Given the description of an element on the screen output the (x, y) to click on. 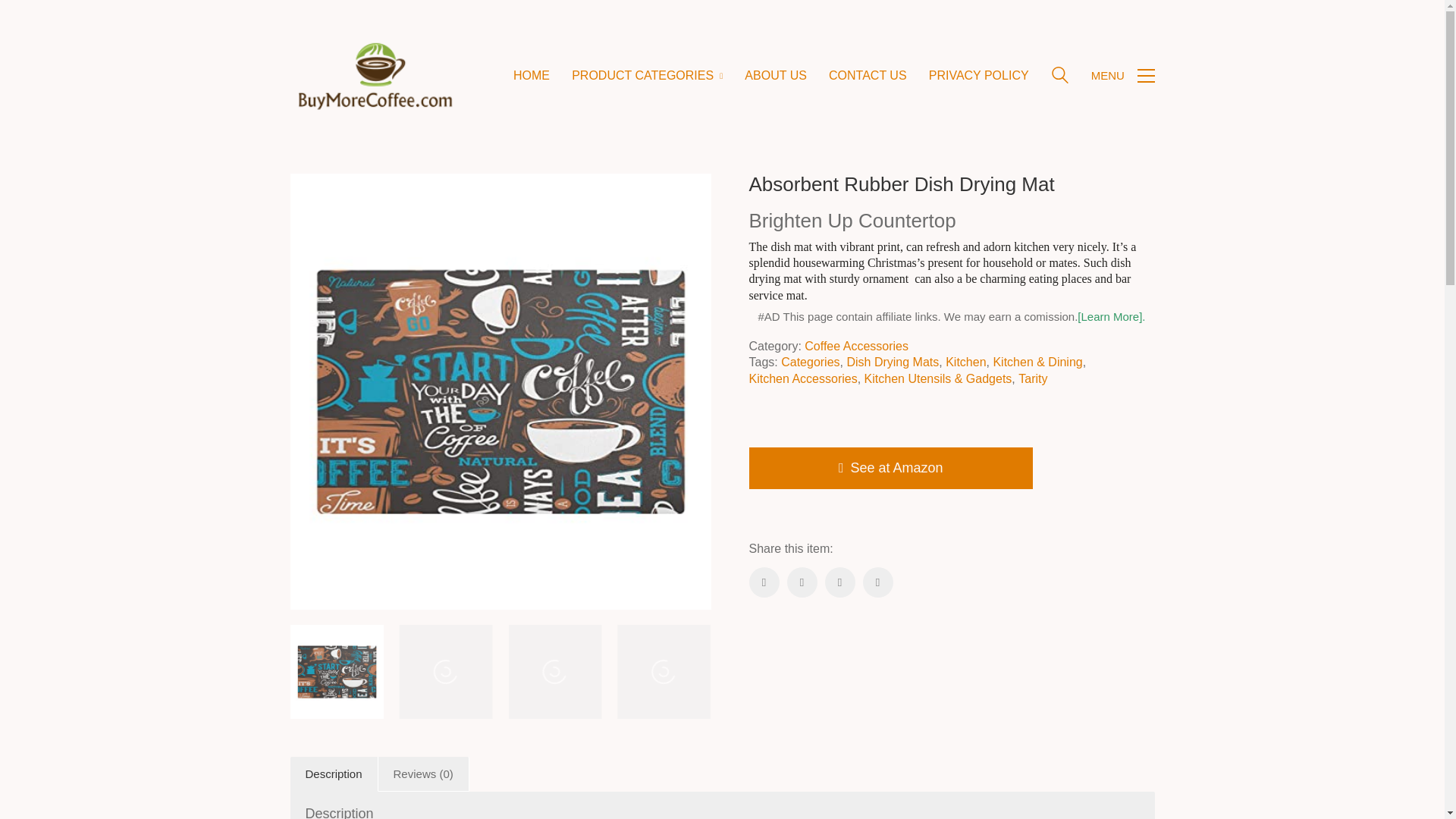
PRIVACY POLICY (978, 75)
ABOUT US (775, 75)
HOME (531, 75)
PRODUCT CATEGORIES (647, 75)
MENU (1122, 75)
CONTACT US (867, 75)
